Given the description of an element on the screen output the (x, y) to click on. 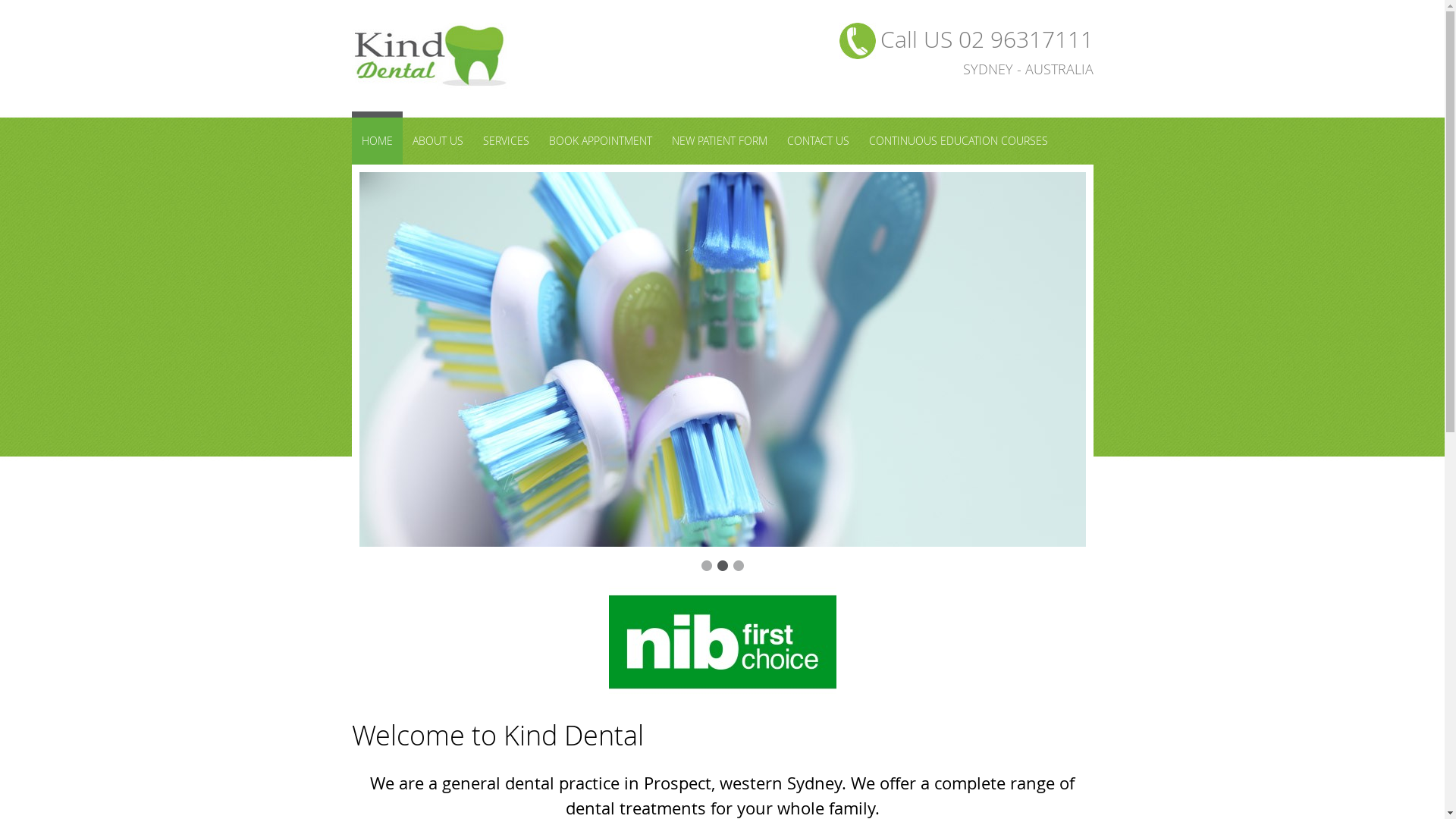
HOME Element type: text (376, 137)
ABOUT US Element type: text (436, 140)
CONTINUOUS EDUCATION COURSES Element type: text (957, 140)
SERVICES Element type: text (506, 140)
CONTACT US Element type: text (817, 140)
NEW PATIENT FORM Element type: text (718, 140)
BOOK APPOINTMENT Element type: text (599, 140)
